Given the description of an element on the screen output the (x, y) to click on. 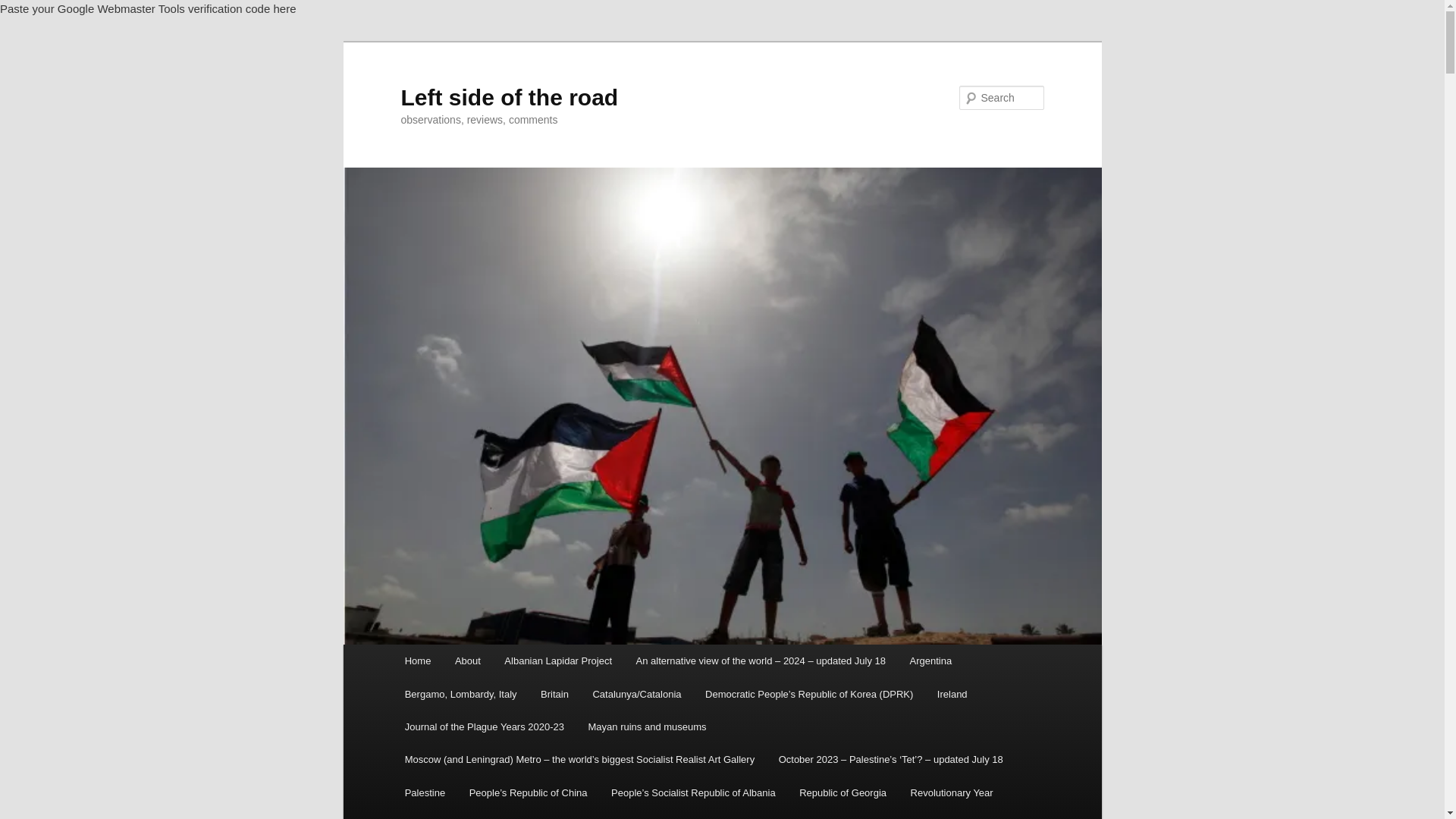
Argentina (930, 660)
Palestine (425, 792)
Journal of the Plague Years 2020-23 (484, 726)
Mayan ruins and museums (647, 726)
About (467, 660)
The Republic of Cuba (900, 814)
Bergamo, Lombardy, Italy (460, 694)
Search (24, 8)
Sailing on a tall ship (448, 814)
Home (417, 660)
Left side of the road (508, 97)
Albanian Lapidar Project (558, 660)
Ireland (951, 694)
Britain (553, 694)
